Given the description of an element on the screen output the (x, y) to click on. 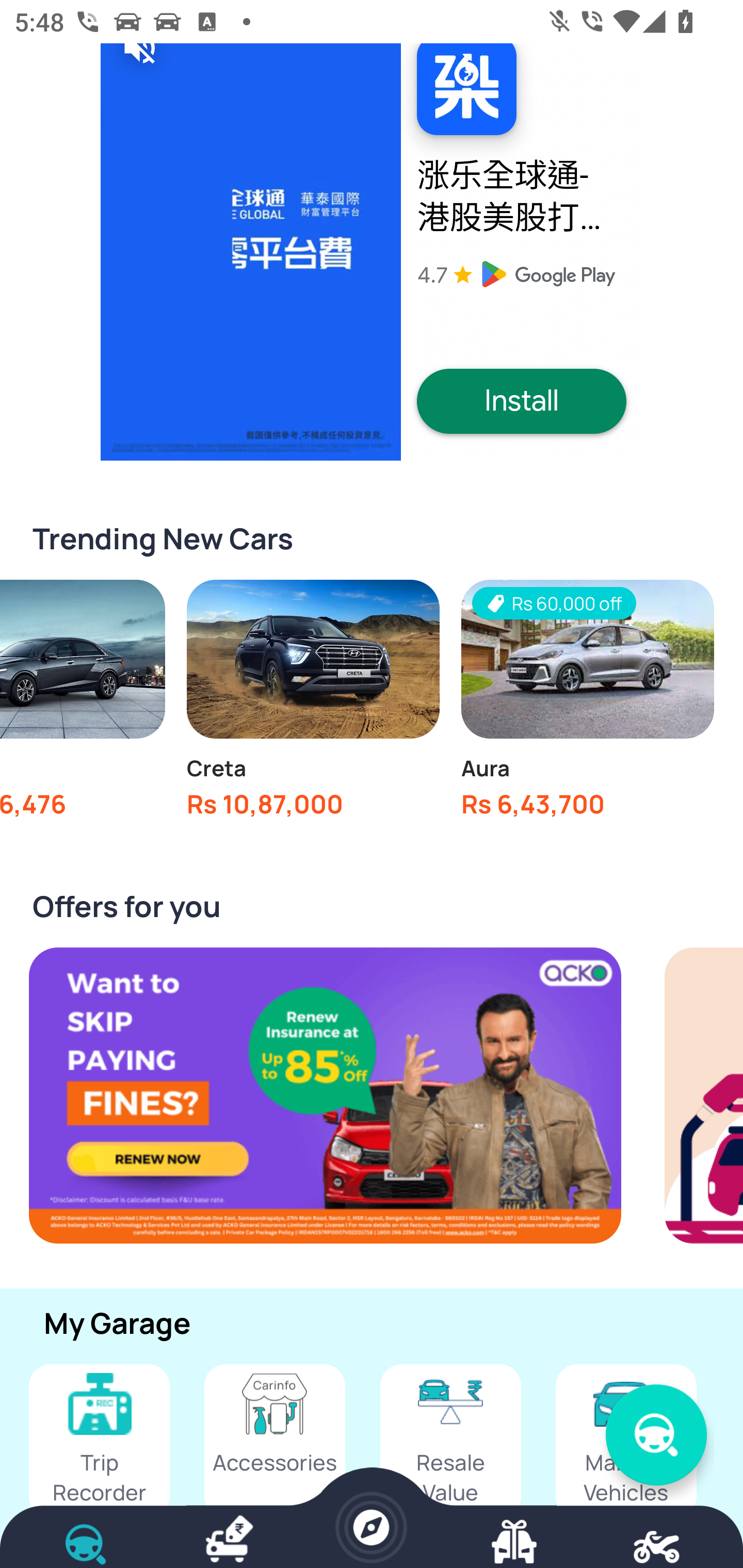
Install (521, 401)
Verna Rs 10,96,476 onwards (82, 703)
Creta Rs 10,87,000 onwards (312, 703)
Rs 60,000 off Aura Rs 6,43,700 onwards (587, 703)
Trip Recorder (98, 1440)
Accessories (274, 1440)
Resale
Value (450, 1440)
Manage
Vehicles (625, 1440)
